Given the description of an element on the screen output the (x, y) to click on. 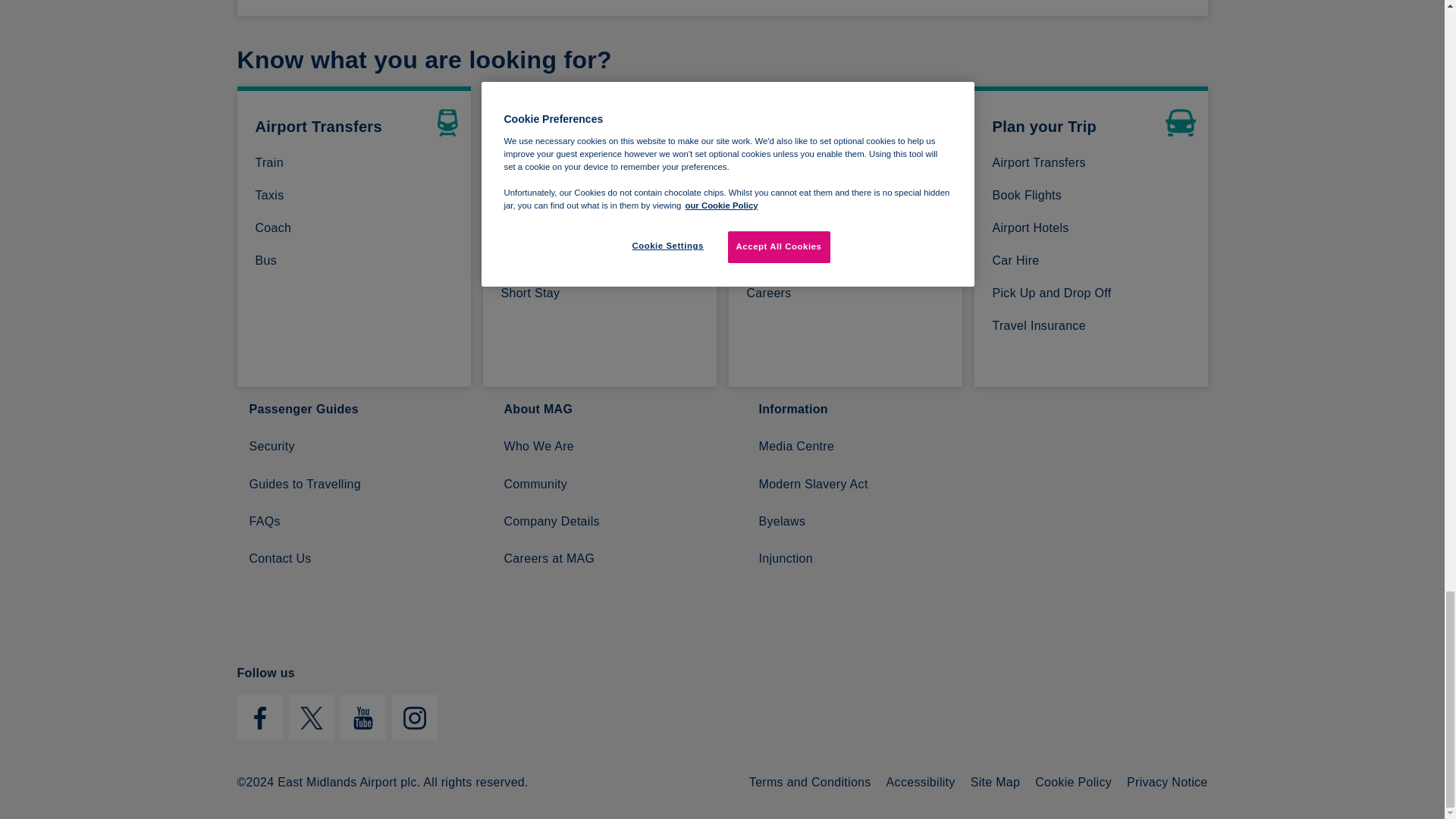
Long Stay (601, 228)
Airport Transfers (1093, 162)
Short Stay (601, 293)
Meet and Greet (601, 162)
Mid Stay (601, 260)
Bus (356, 260)
Taxis (356, 195)
Escape Lounges (847, 228)
Security FastTrack (847, 162)
Coach (356, 228)
JetParks (601, 195)
Careers (847, 293)
Book Flights (1093, 195)
Passport Control FastTrack (847, 195)
Airport Hotels (1093, 228)
